Given the description of an element on the screen output the (x, y) to click on. 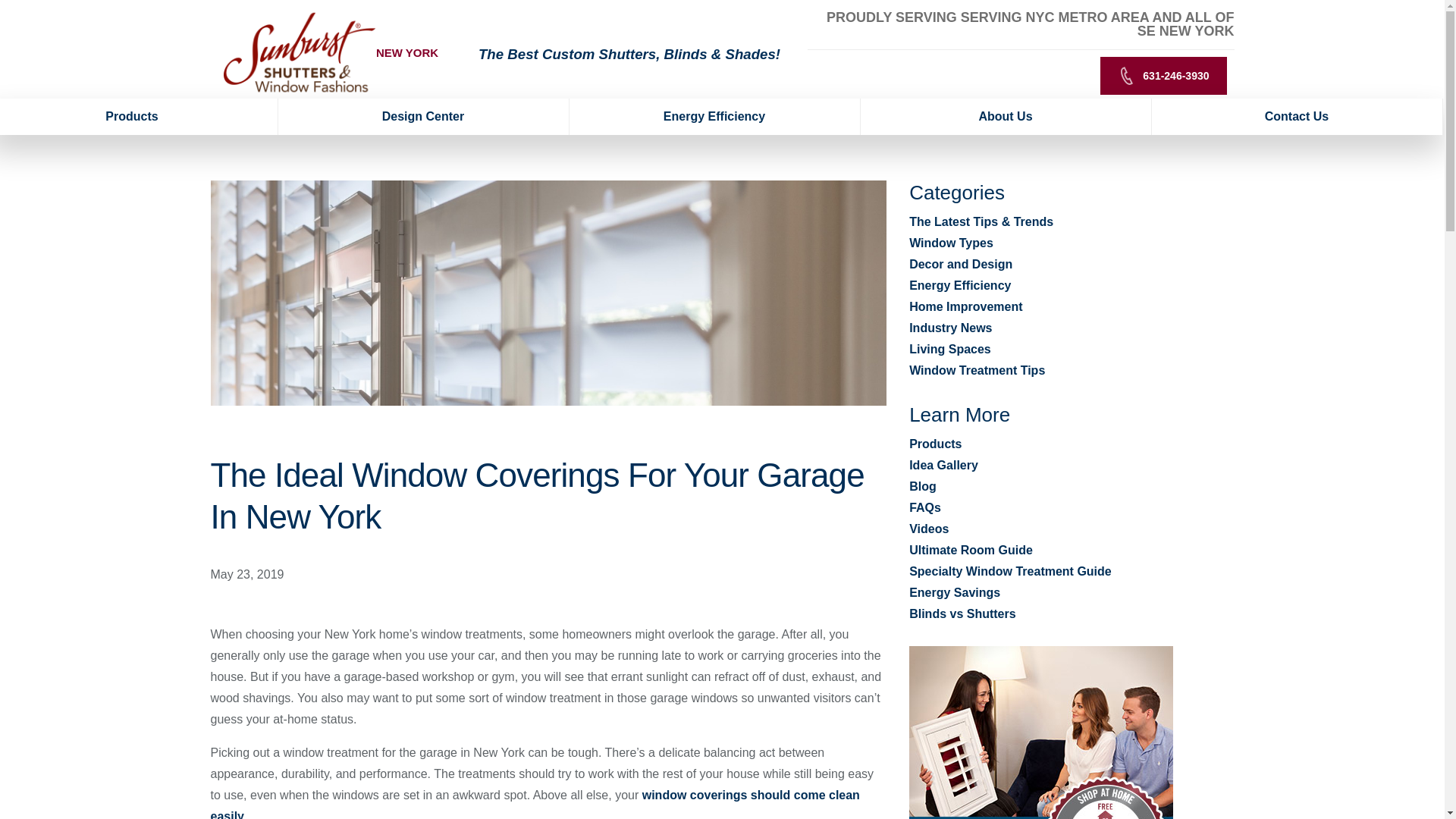
631-246-3930 (1162, 75)
Design Center (423, 116)
Sunburst Shutters New York Home (298, 52)
Products (139, 116)
